Given the description of an element on the screen output the (x, y) to click on. 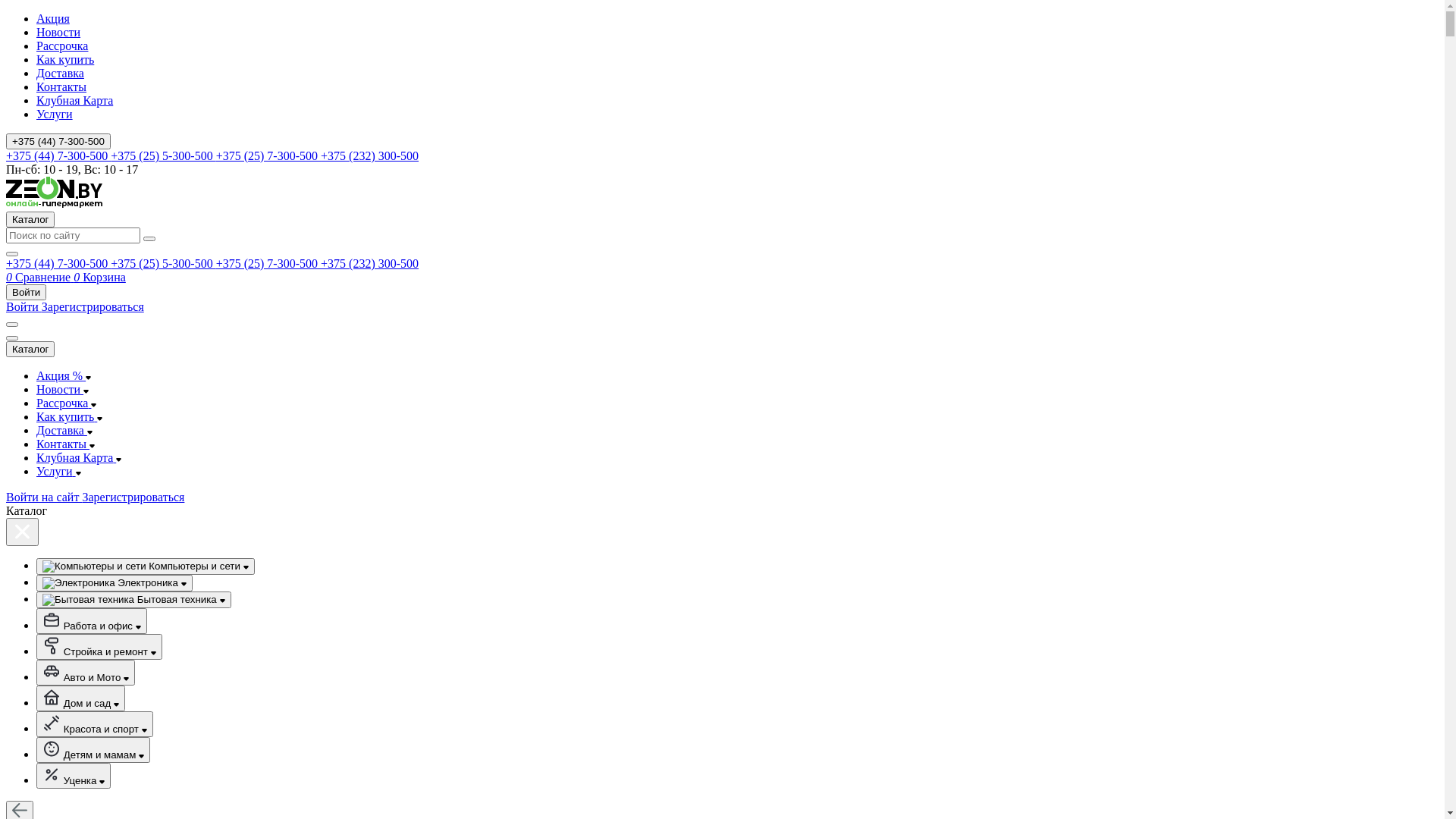
+375 (25) 7-300-500 Element type: text (268, 263)
+375 (232) 300-500 Element type: text (369, 155)
+375 (44) 7-300-500 Element type: text (58, 141)
+375 (25) 5-300-500 Element type: text (162, 155)
+375 (44) 7-300-500 Element type: text (58, 263)
+375 (25) 7-300-500 Element type: text (268, 155)
+375 (44) 7-300-500 Element type: text (58, 155)
+375 (25) 5-300-500 Element type: text (162, 263)
+375 (232) 300-500 Element type: text (369, 263)
